Given the description of an element on the screen output the (x, y) to click on. 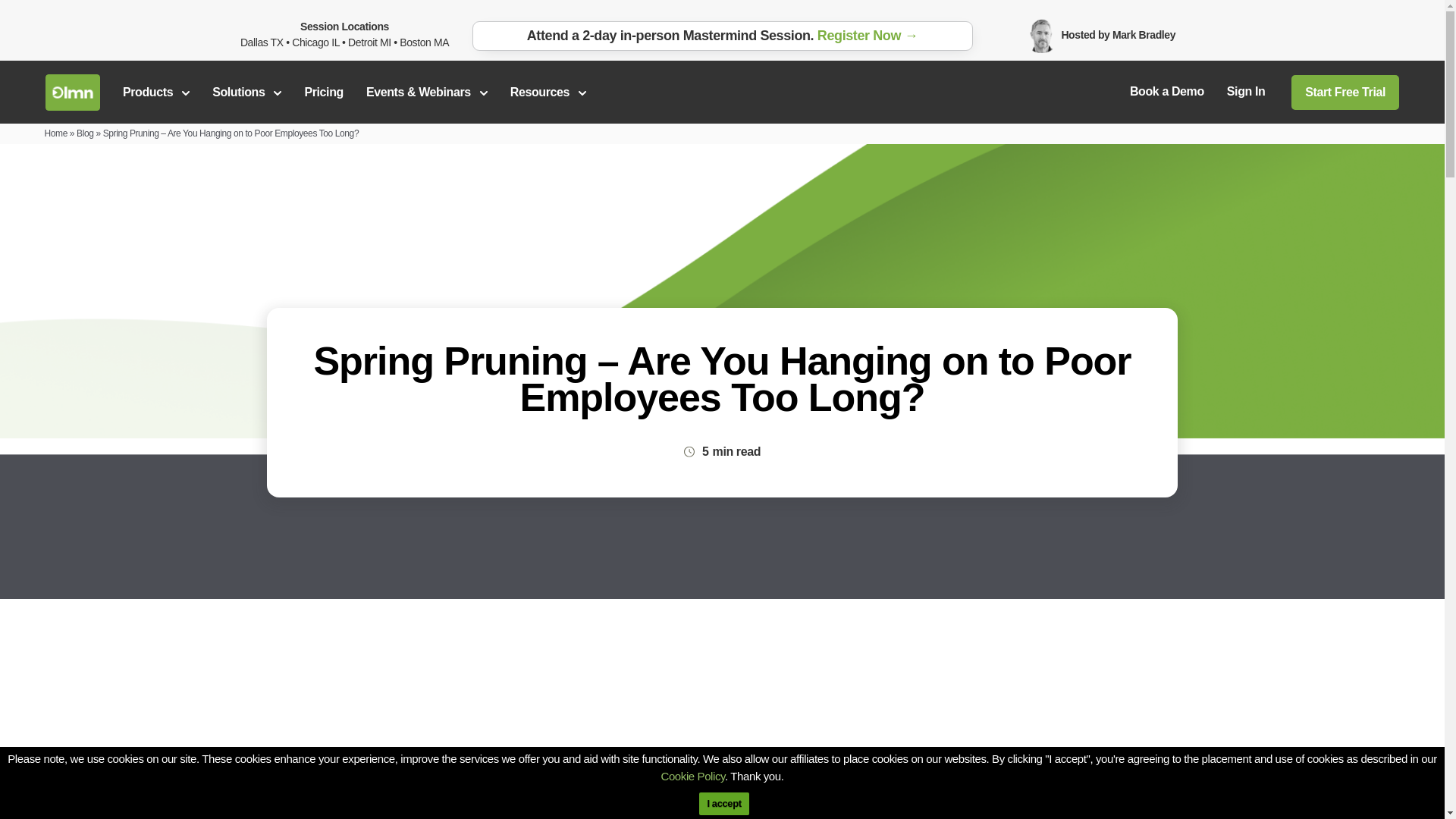
Resources (548, 91)
Solutions (246, 91)
Pricing (323, 91)
Products (155, 91)
May 9, 2011 (470, 797)
